Given the description of an element on the screen output the (x, y) to click on. 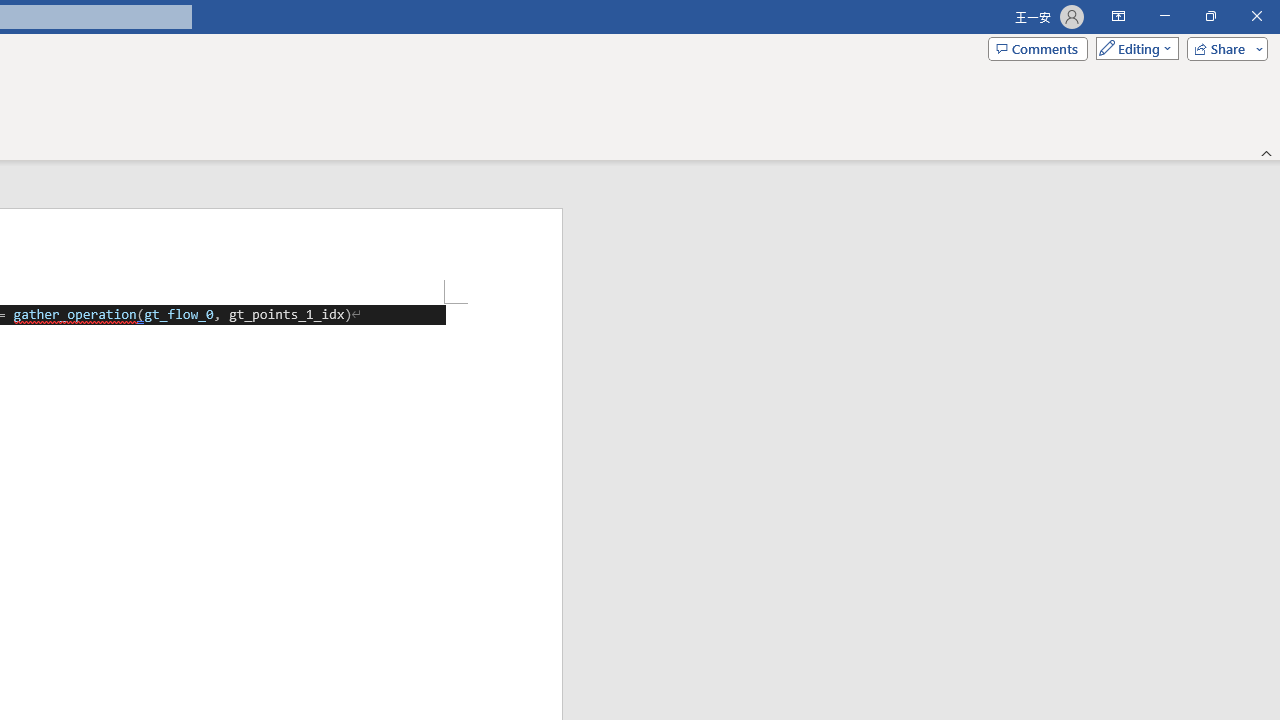
Restore Down (1210, 16)
Mode (1133, 47)
Collapse the Ribbon (1267, 152)
Comments (1038, 48)
Minimize (1164, 16)
Share (1223, 48)
Ribbon Display Options (1118, 16)
